Given the description of an element on the screen output the (x, y) to click on. 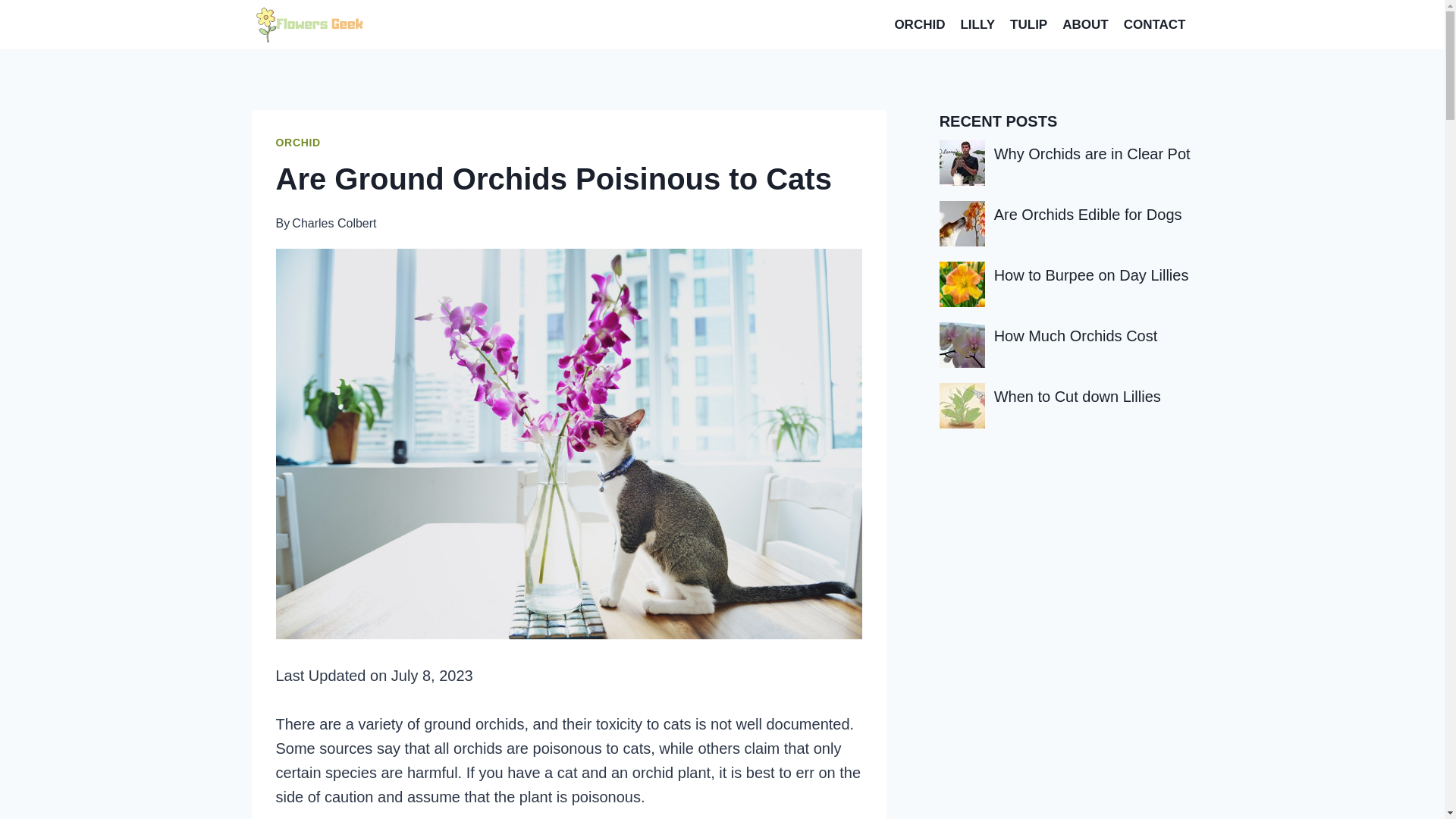
Charles Colbert (333, 223)
ABOUT (1084, 24)
ORCHID (298, 142)
How to Burpee on Day Lillies (1091, 274)
TULIP (1028, 24)
ORCHID (919, 24)
LILLY (977, 24)
Why Orchids are in Clear Pot (1092, 153)
Are Orchids Edible for Dogs (1088, 214)
